Given the description of an element on the screen output the (x, y) to click on. 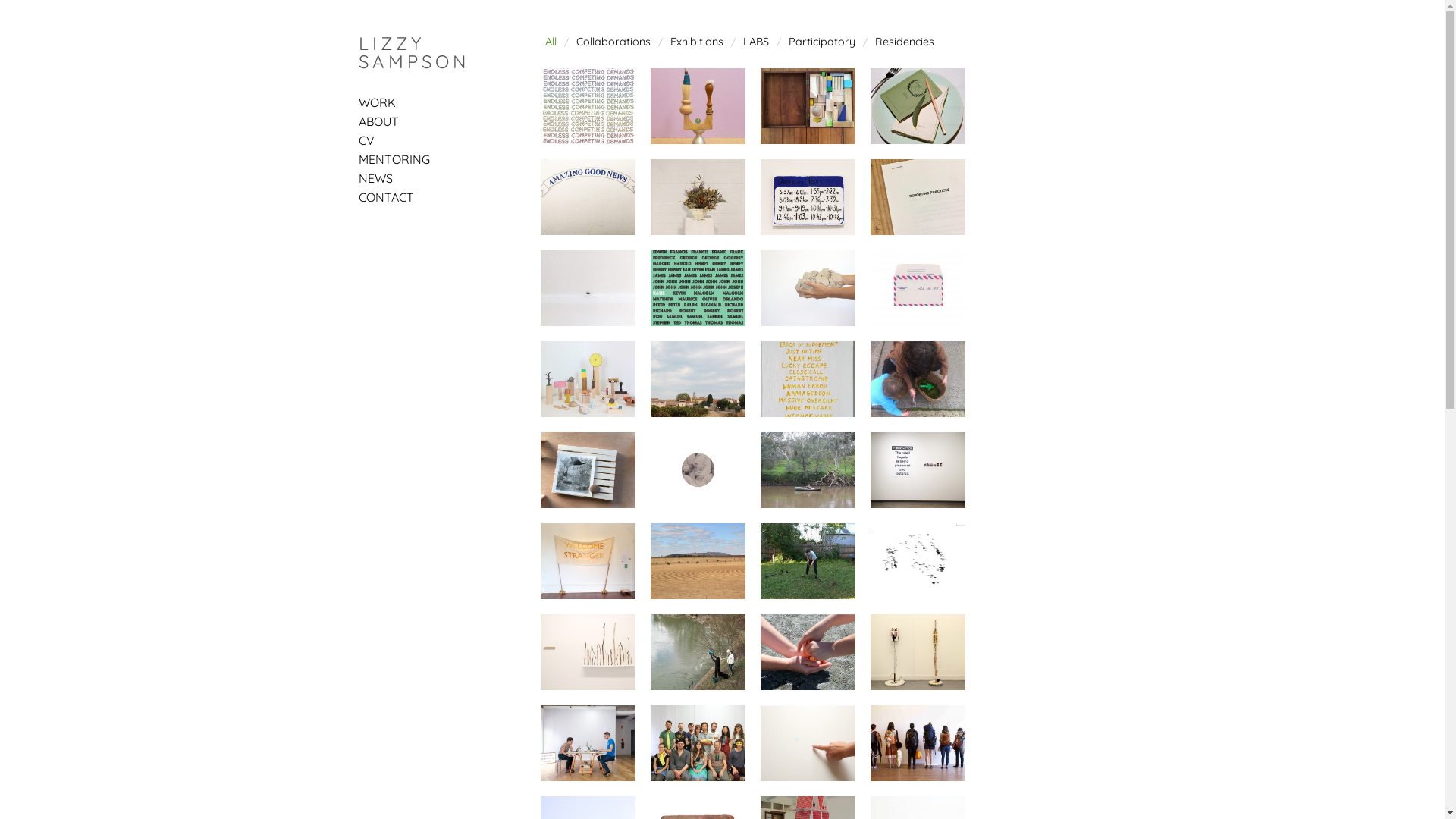
Boot Camp: Survival Element type: hover (917, 743)
Operating Hours Element type: hover (806, 197)
Unbelievable, Error of Judgement Element type: hover (806, 379)
Supper Club: Sanatorium Element type: hover (917, 106)
A Postal Service Element type: hover (917, 288)
Dollars and Sense Element type: hover (586, 652)
All Element type: text (549, 41)
Reporting Practices Element type: hover (917, 197)
Artist Residency in Motherhood Element type: hover (917, 379)
Local Observatory for Ecosystem Services Element type: hover (697, 652)
Collaborations Element type: text (613, 41)
CV Element type: text (365, 139)
Time Place Space NOMAD Element type: hover (697, 561)
LABS Element type: text (755, 41)
Prospects Element type: hover (806, 561)
Moving Forward Element type: hover (917, 652)
LIZZY SAMPSON Element type: text (412, 51)
104th Mayor Element type: hover (697, 288)
MENTORING Element type: text (393, 158)
Transfer of Gold Element type: hover (806, 652)
Under Construction Element type: hover (586, 561)
Participatory Element type: text (821, 41)
Finding the Centre Element type: hover (806, 743)
WORK Element type: text (376, 101)
Temporary Agency Symposium Element type: hover (697, 743)
Endless Competing Demands Element type: hover (586, 106)
Everything we need is right here Element type: hover (697, 106)
Objects Found While Walking (0-12 months) Element type: hover (586, 379)
The sonic edge of town Element type: hover (697, 379)
Writing, research and text: Parenting in the arts Element type: hover (806, 106)
Birth Weight (3340 grams) Element type: hover (806, 288)
Stone Age Element type: hover (586, 470)
Mine Element type: hover (917, 561)
Residencies Element type: text (904, 41)
Public Notice / Penpals; Post Conversation Element type: hover (917, 470)
NEWS Element type: text (374, 177)
Amazing Good News Element type: hover (586, 197)
Temporary Agency Element type: hover (586, 743)
Exhibitions Element type: text (696, 41)
ABOUT Element type: text (377, 120)
CONTACT Element type: text (385, 196)
A spider gave birth in the bedroom Element type: hover (586, 288)
Holding Onto Things Element type: hover (697, 470)
Still Moving Element type: hover (806, 470)
